Given the description of an element on the screen output the (x, y) to click on. 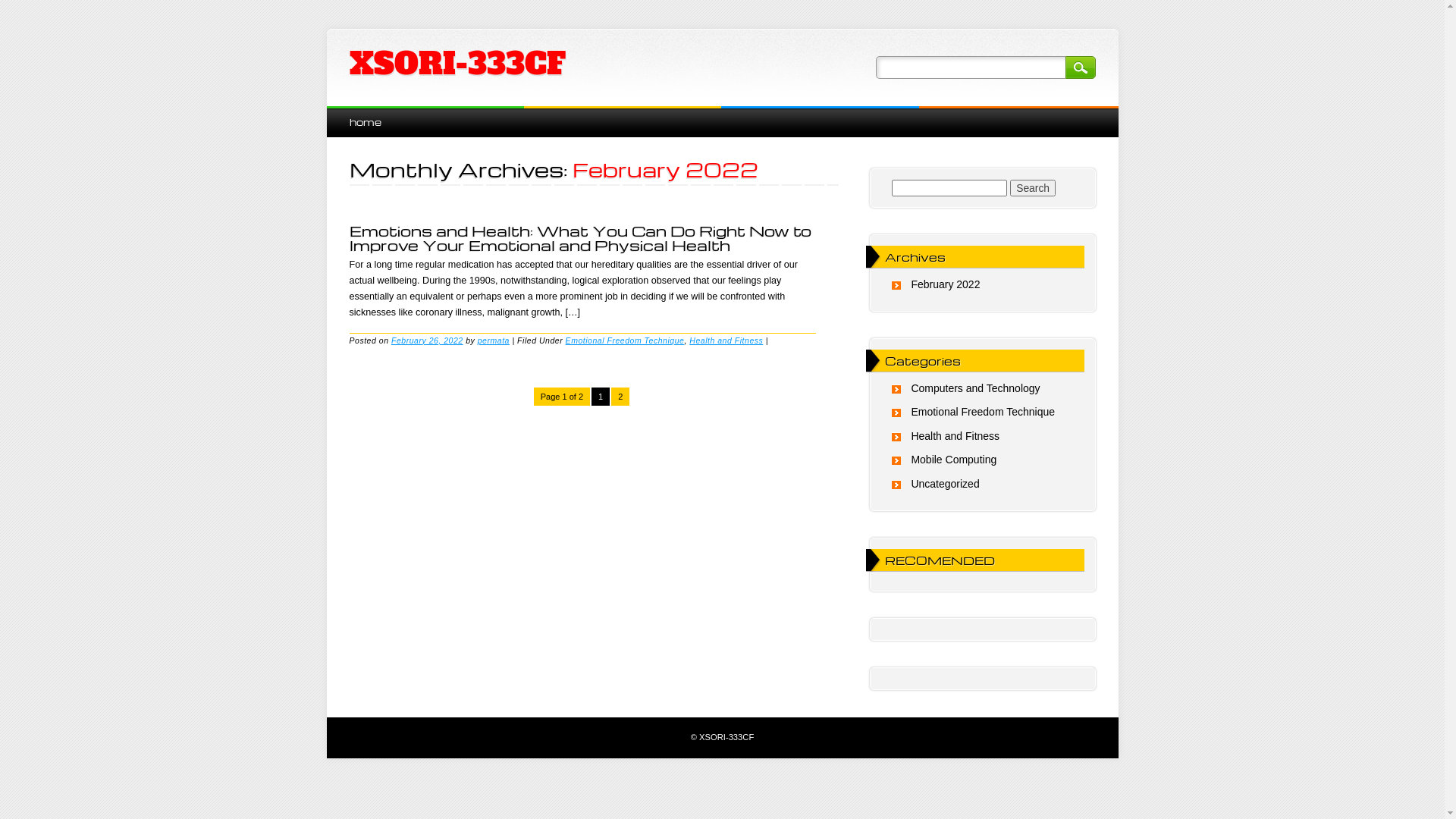
permata Element type: text (493, 339)
February 2022 Element type: text (944, 284)
Skip to content Element type: text (361, 113)
Uncategorized Element type: text (944, 483)
2 Element type: text (620, 396)
Search Element type: text (1032, 187)
Computers and Technology Element type: text (974, 388)
Health and Fitness Element type: text (725, 339)
Health and Fitness Element type: text (954, 435)
Mobile Computing Element type: text (953, 459)
Emotional Freedom Technique Element type: text (982, 411)
Search Element type: text (1079, 67)
XSORI-333CF Element type: text (456, 63)
home Element type: text (364, 121)
February 26, 2022 Element type: text (427, 339)
Emotional Freedom Technique Element type: text (624, 339)
